Given the description of an element on the screen output the (x, y) to click on. 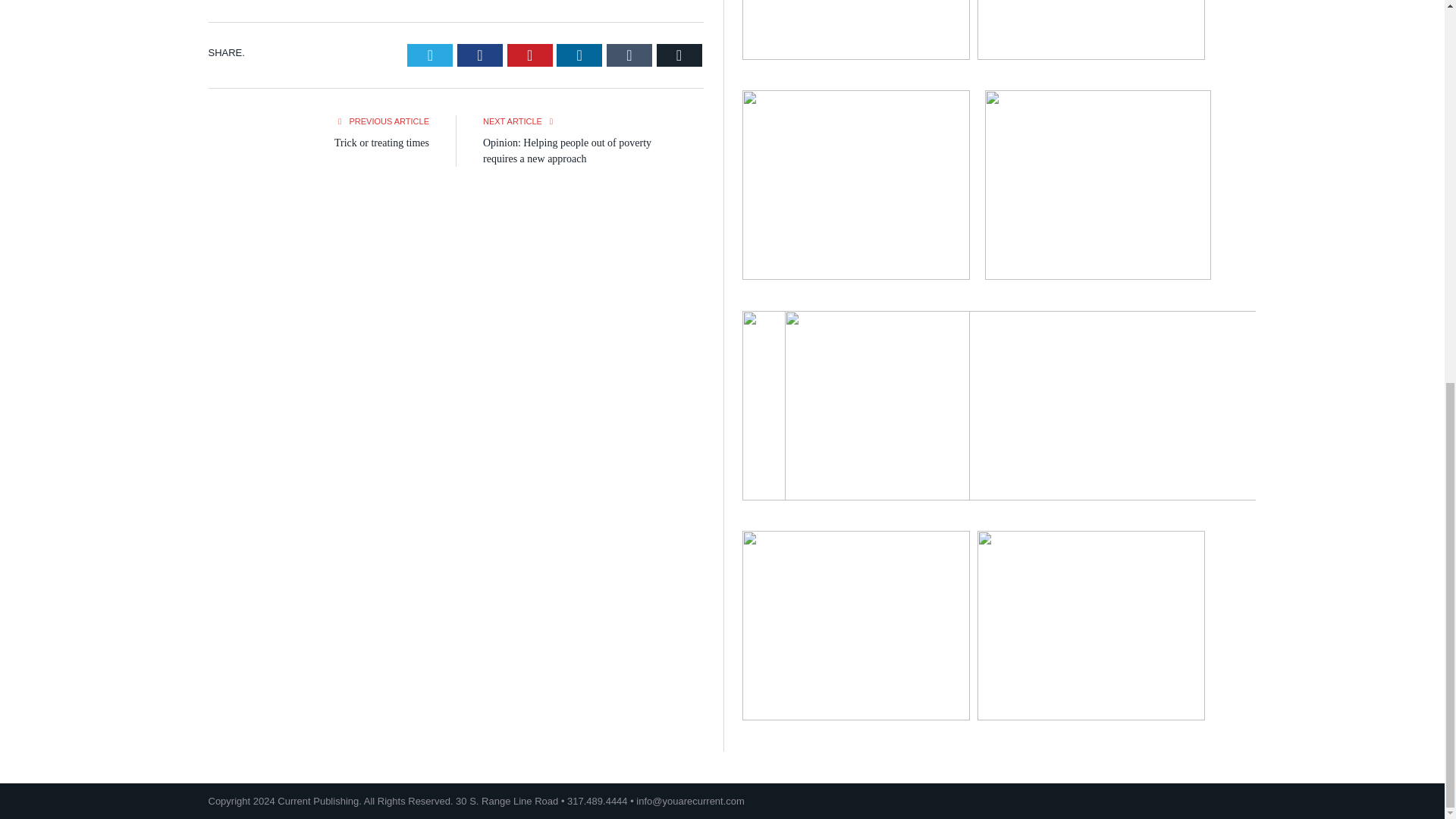
Share on Facebook (479, 55)
Tweet It (429, 55)
Share on Pinterest (529, 55)
Share via Email (678, 55)
Share on LinkedIn (579, 55)
Share on Tumblr (629, 55)
